Given the description of an element on the screen output the (x, y) to click on. 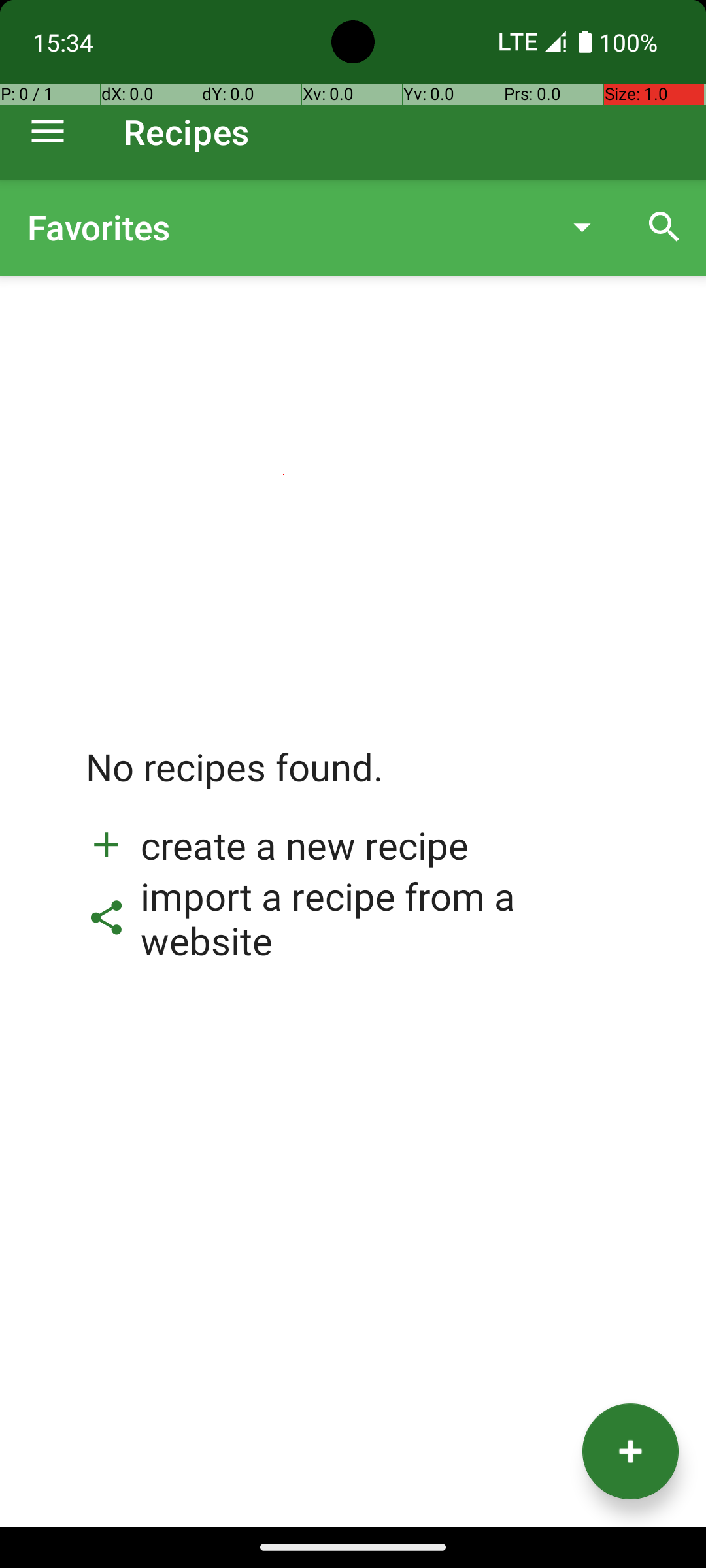
No recipes found. Element type: android.widget.TextView (234, 779)
create a new recipe Element type: android.widget.TextView (276, 844)
import a recipe from a website Element type: android.widget.TextView (352, 917)
